Given the description of an element on the screen output the (x, y) to click on. 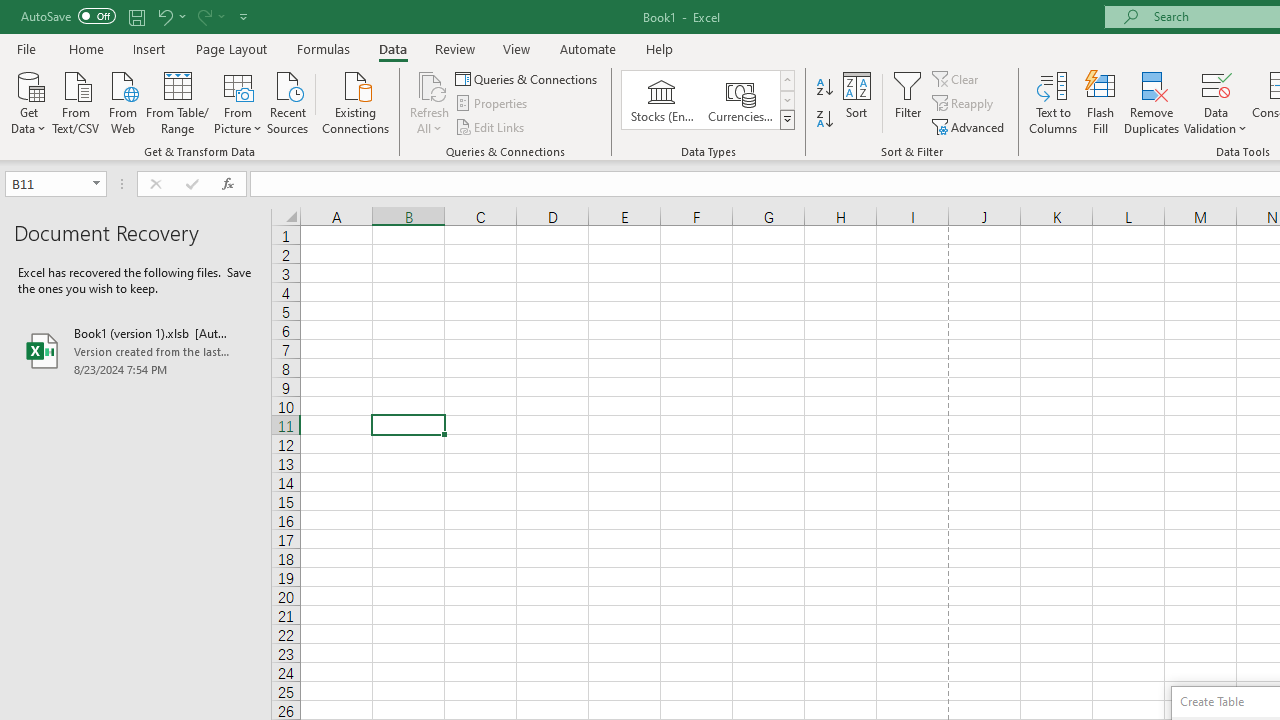
Review (454, 48)
View (517, 48)
AutomationID: ConvertToLinkedEntity (708, 99)
Existing Connections (355, 101)
From Picture (238, 101)
Get Data (28, 101)
Data Validation... (1215, 102)
Refresh All (429, 84)
Help (660, 48)
Row Down (786, 100)
Data (392, 48)
Open (96, 183)
Automate (588, 48)
Undo (164, 15)
